Given the description of an element on the screen output the (x, y) to click on. 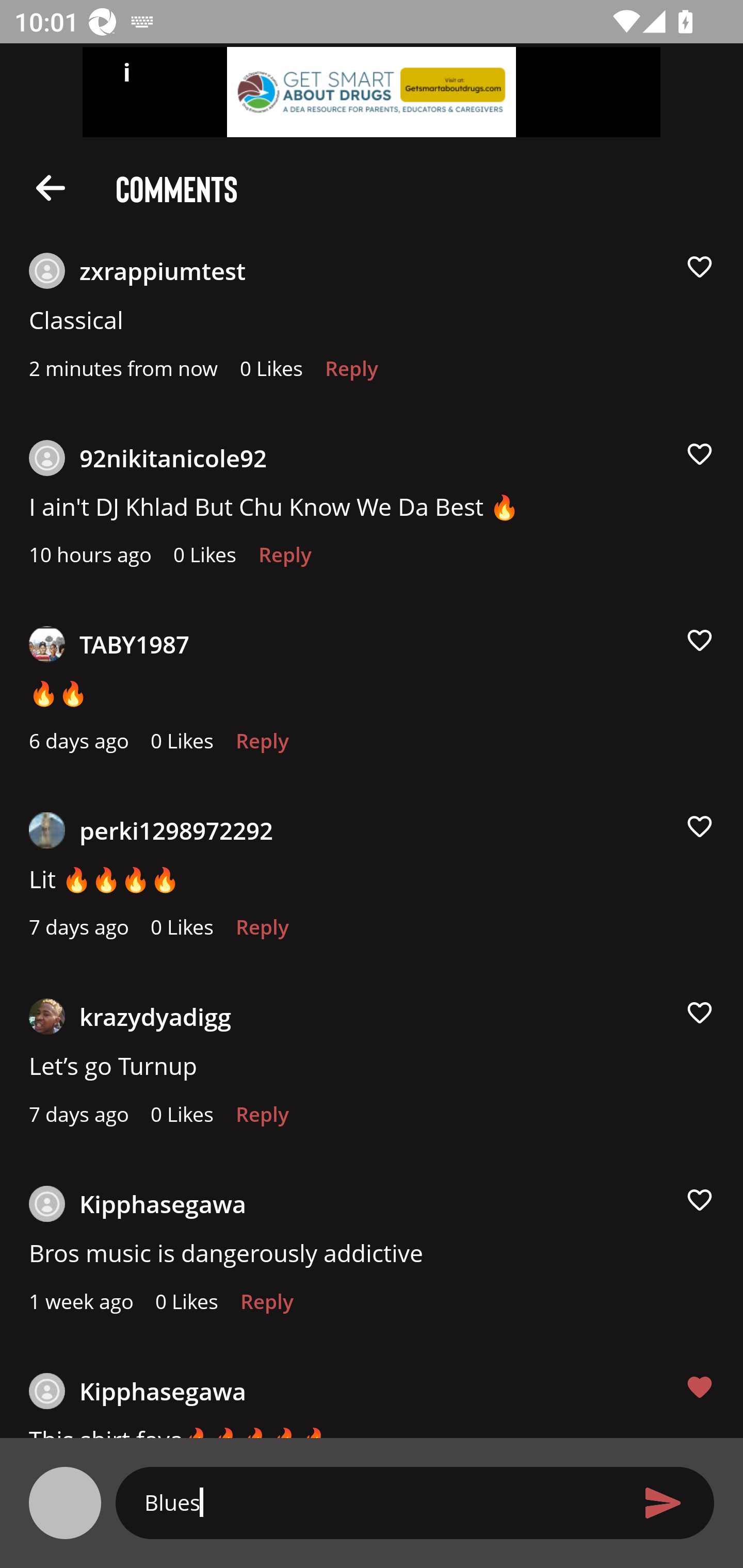
Description (50, 187)
Reply (351, 372)
Reply (285, 559)
Reply (261, 746)
Reply (261, 932)
Reply (261, 1119)
Reply (266, 1306)
Blues (378, 1502)
